Given the description of an element on the screen output the (x, y) to click on. 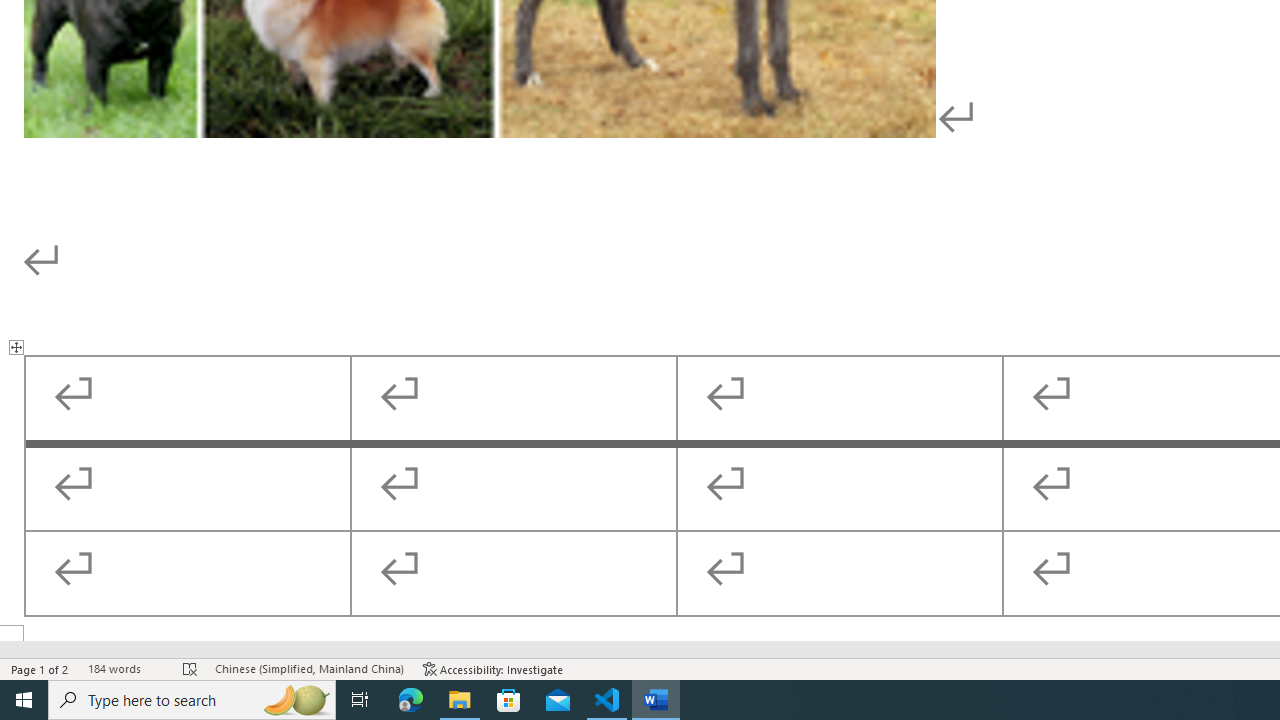
Word Count 184 words (125, 668)
Page Number Page 1 of 2 (39, 668)
